Given the description of an element on the screen output the (x, y) to click on. 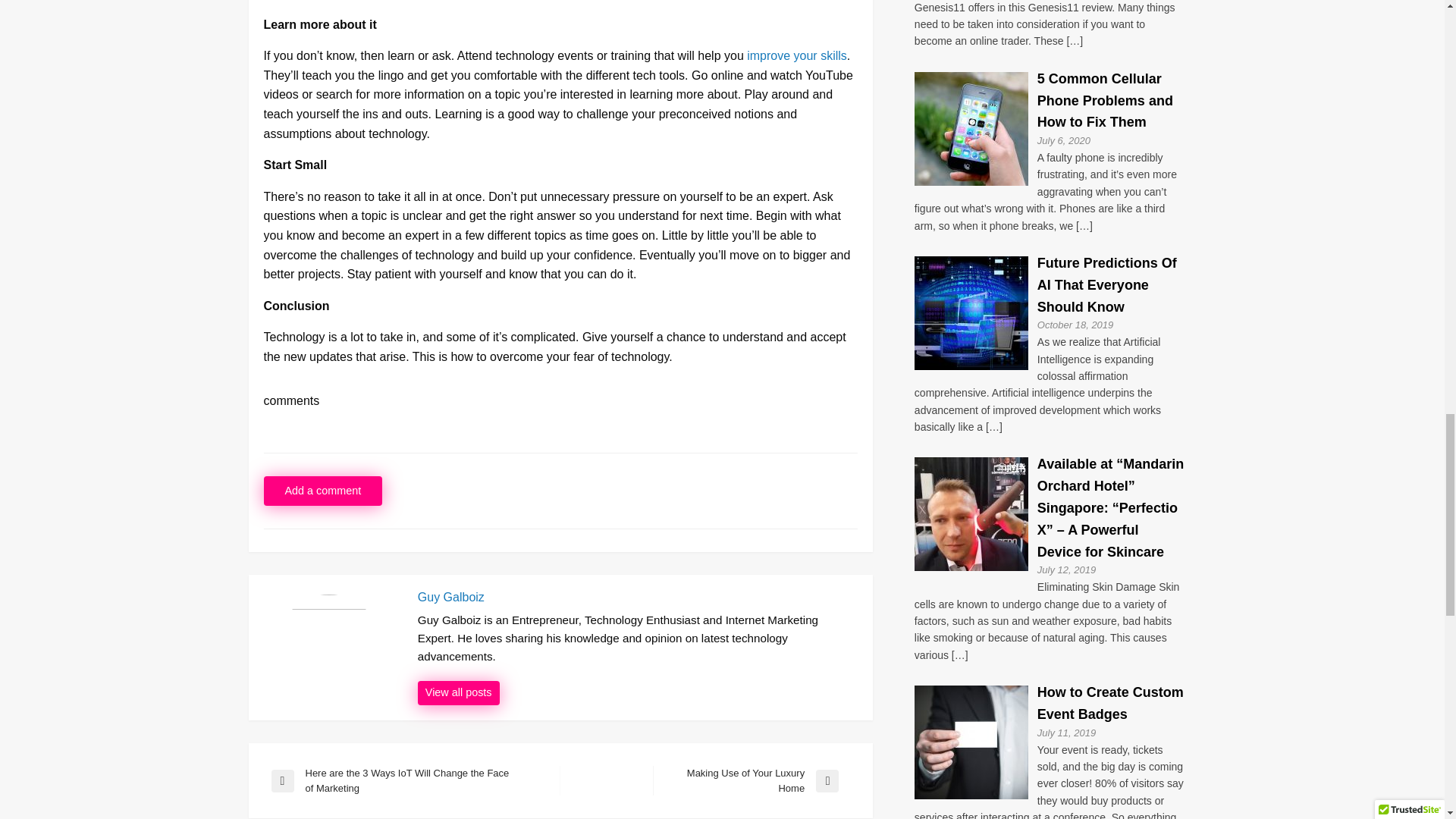
Guy Galboiz (458, 692)
Guy Galboiz (637, 597)
